Given the description of an element on the screen output the (x, y) to click on. 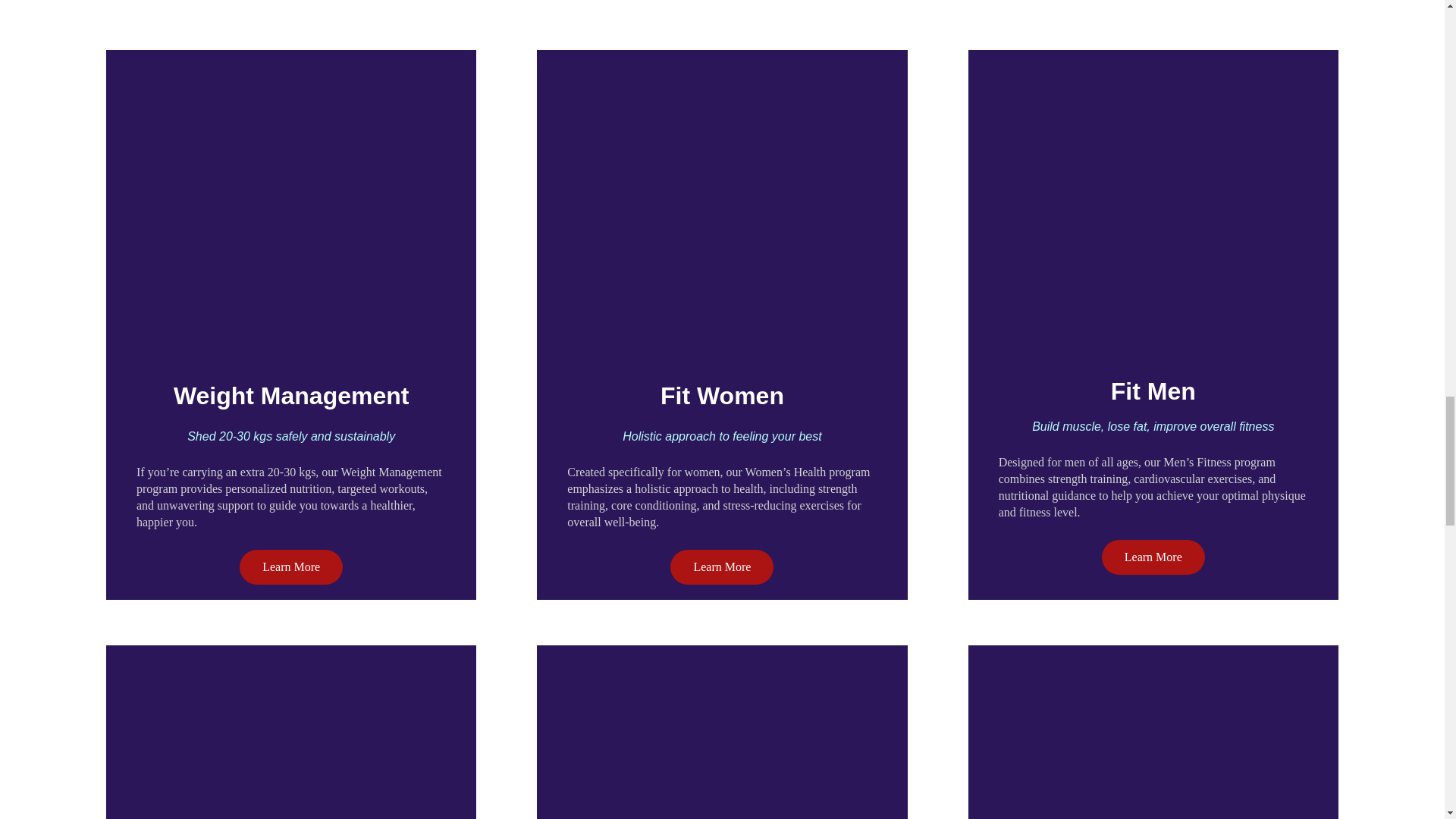
Learn More (1153, 556)
Learn More (291, 566)
Learn More (721, 566)
